Given the description of an element on the screen output the (x, y) to click on. 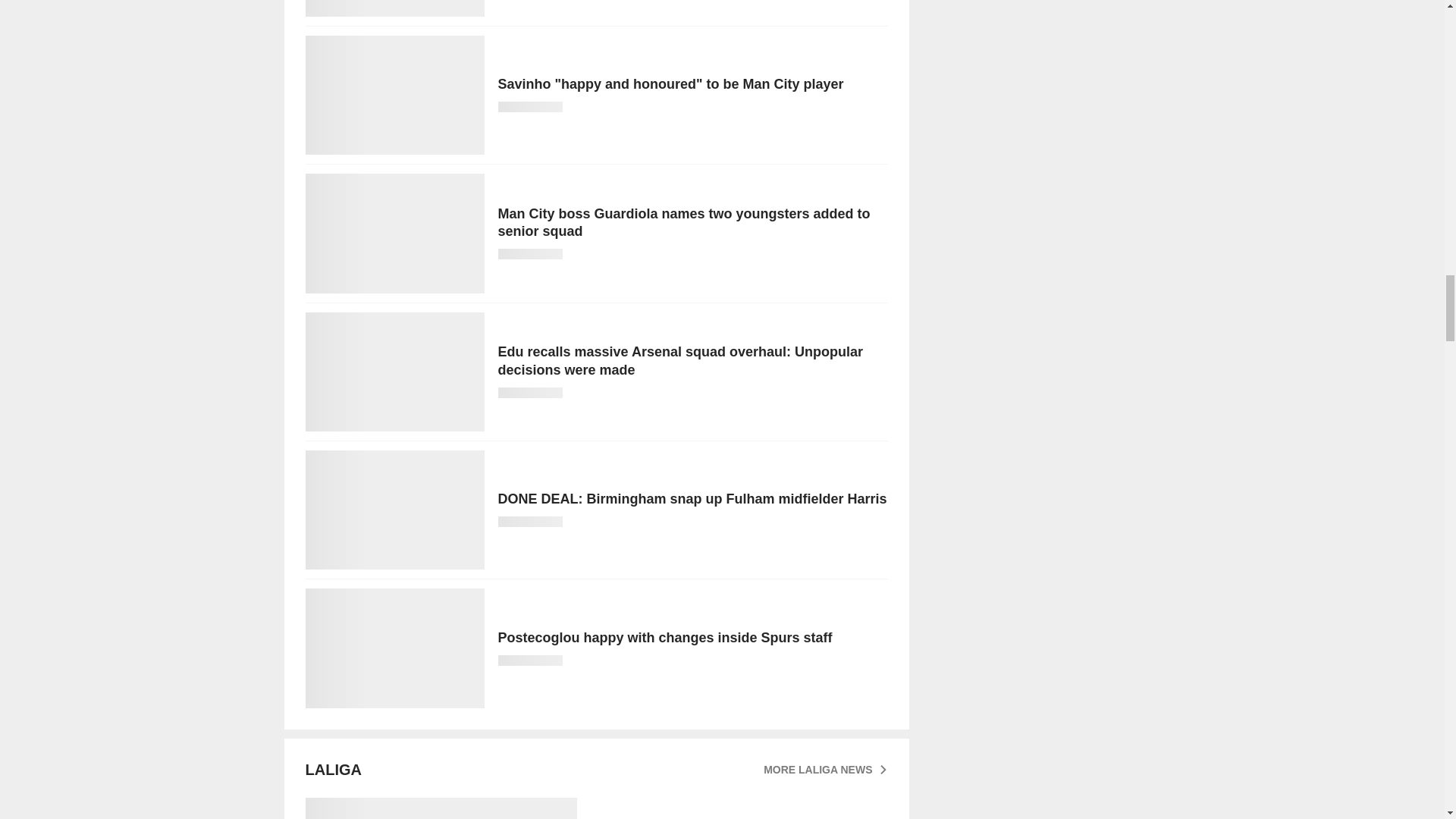
Savinho "happy and honoured" to be Man City player (595, 95)
Everton boss Dyche happy with Iroegbunam preseason form (595, 8)
